Given the description of an element on the screen output the (x, y) to click on. 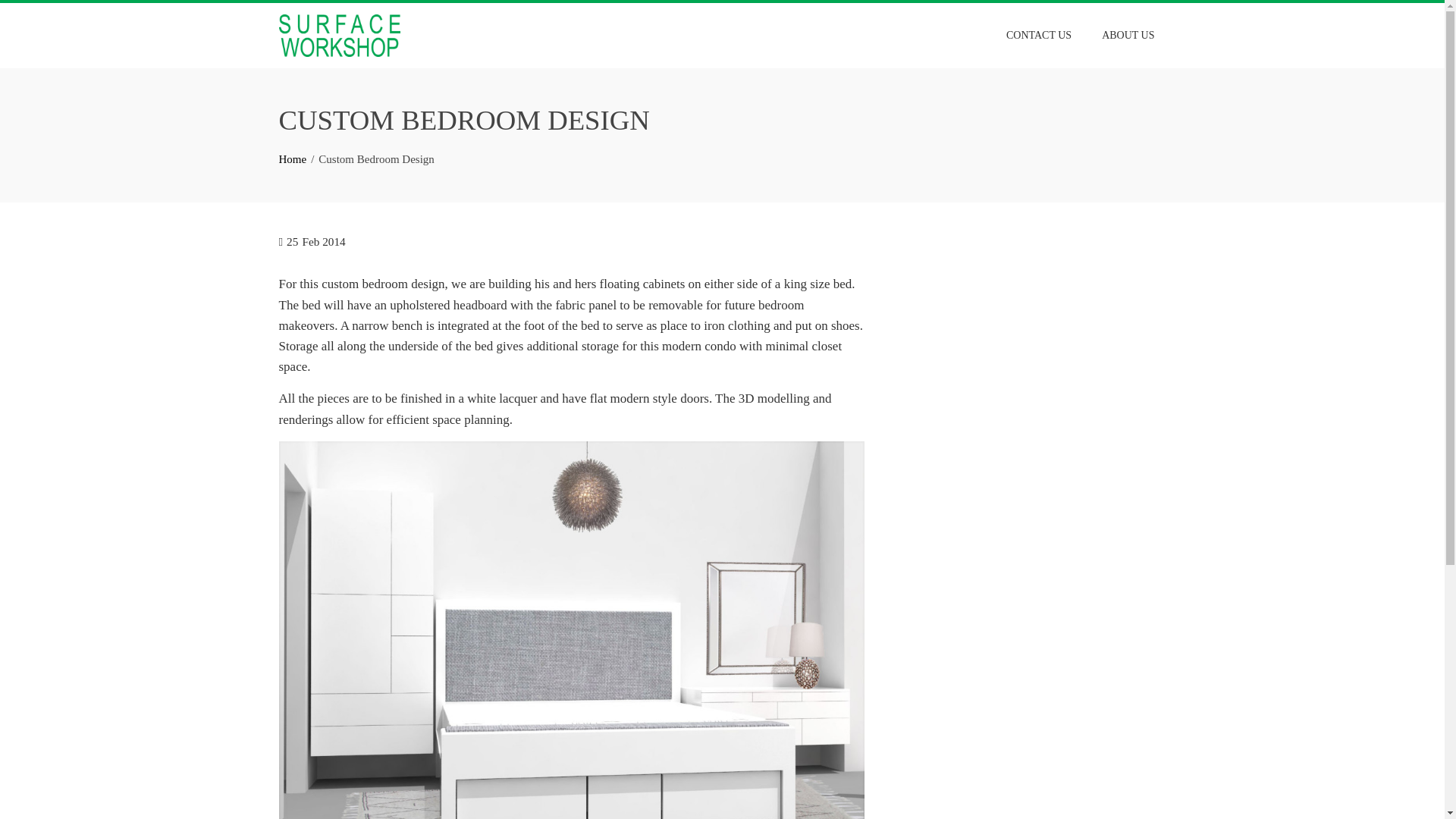
ABOUT US (1128, 35)
CONTACT US (1038, 35)
Home (293, 159)
